Given the description of an element on the screen output the (x, y) to click on. 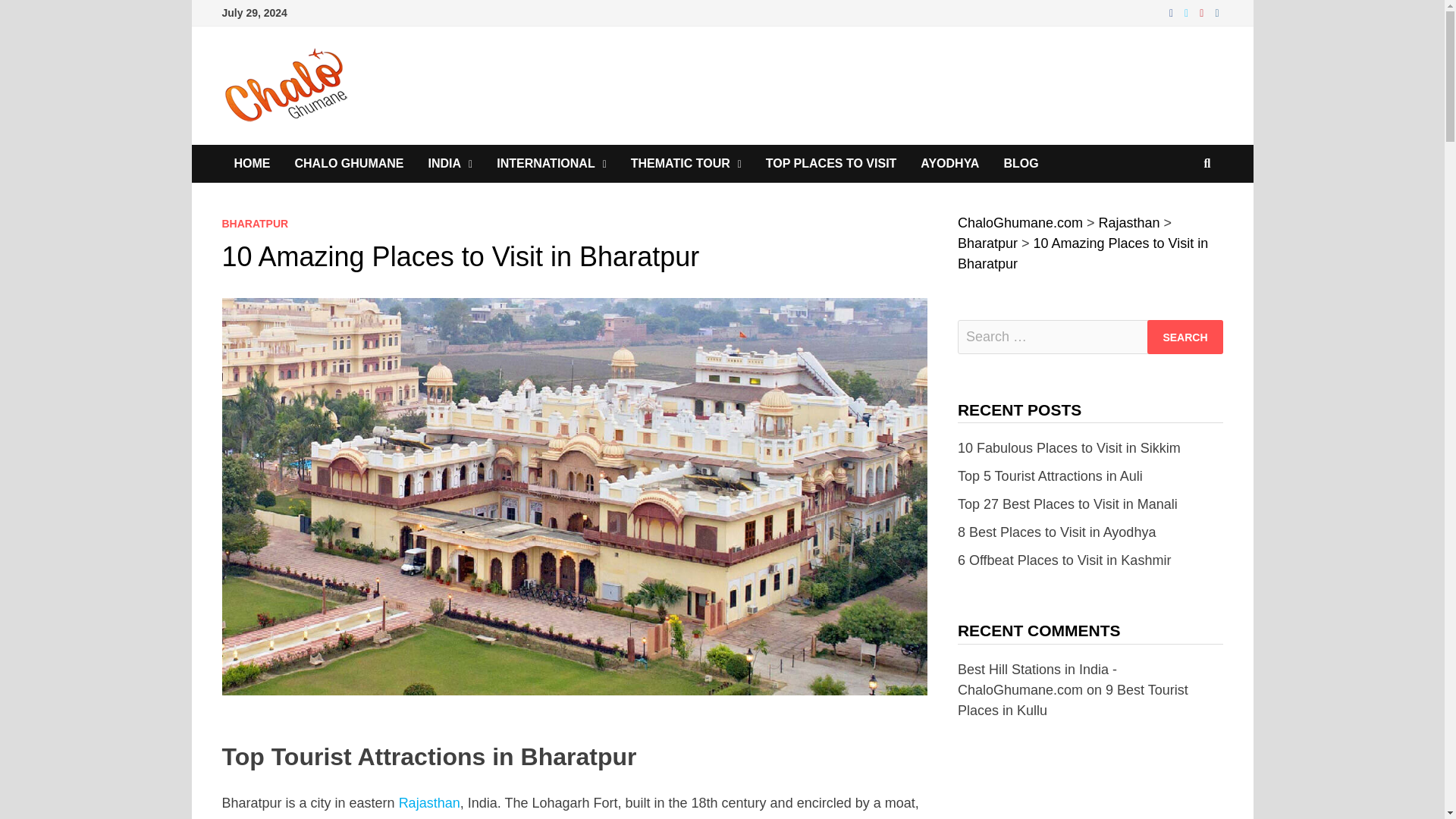
CHALO GHUMANE (348, 163)
INDIA (449, 163)
Go to the Bharatpur category archives. (987, 242)
Go to ChaloGhumane.com. (1020, 222)
HOME (251, 163)
Search (1185, 336)
Go to 10 Amazing Places to Visit in Bharatpur. (1083, 253)
Search (1185, 336)
Twitter (1187, 11)
Pinterest (1203, 11)
Facebook (1173, 11)
Go to the Rajasthan category archives. (1129, 222)
